Given the description of an element on the screen output the (x, y) to click on. 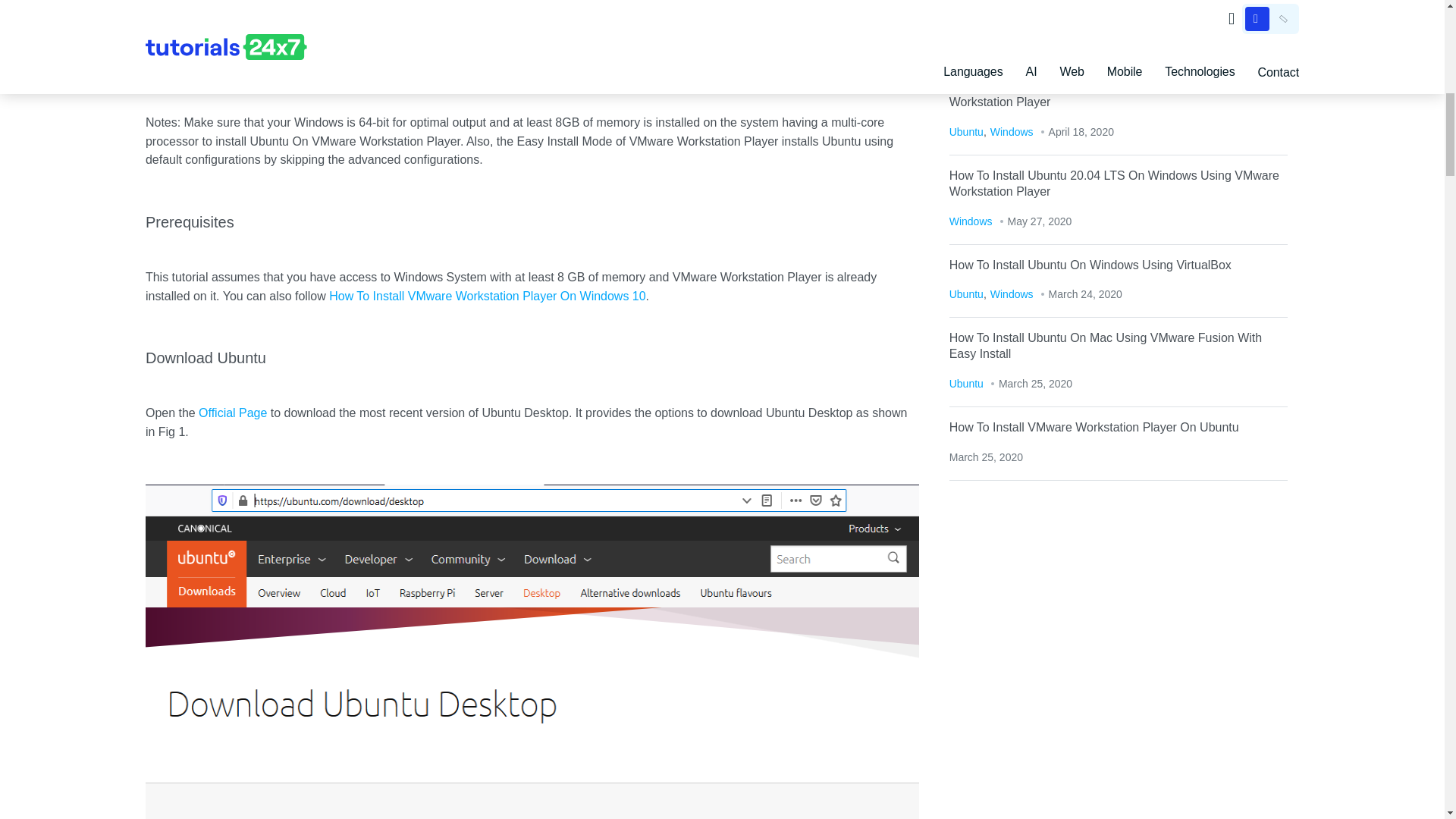
Official Page (232, 412)
How To Install VMware Workstation Player On Windows 10 (487, 295)
